Given the description of an element on the screen output the (x, y) to click on. 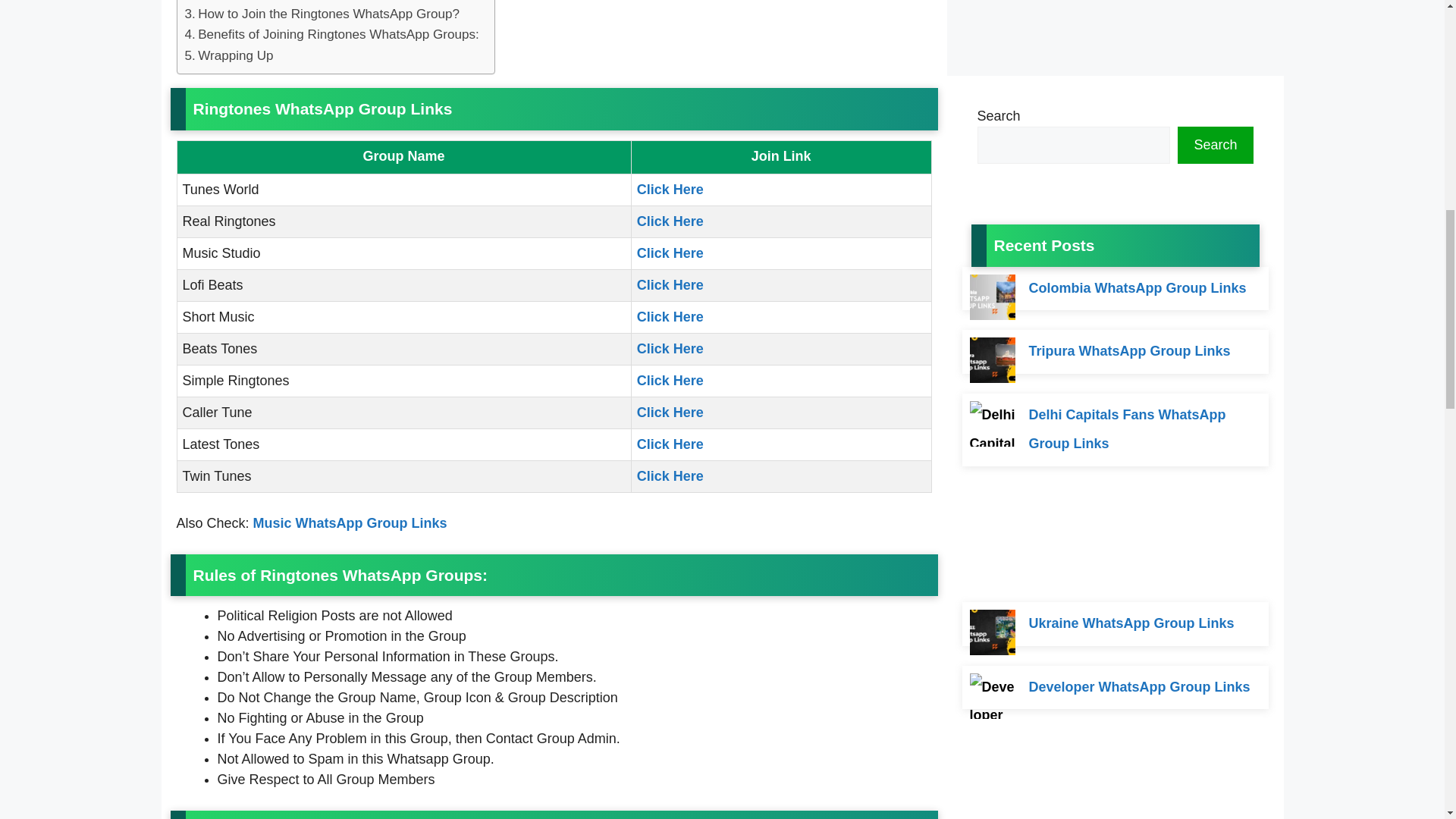
Click Here (670, 221)
Click Here (670, 189)
Rules of Ringtones WhatsApp Groups: (302, 2)
Benefits of Joining Ringtones WhatsApp Groups: (331, 34)
Click Here (670, 380)
Click Here (670, 348)
How to Join the Ringtones WhatsApp Group? (322, 14)
Click Here (670, 444)
How to Join the Ringtones WhatsApp Group? (322, 14)
Wrapping Up (228, 55)
